Given the description of an element on the screen output the (x, y) to click on. 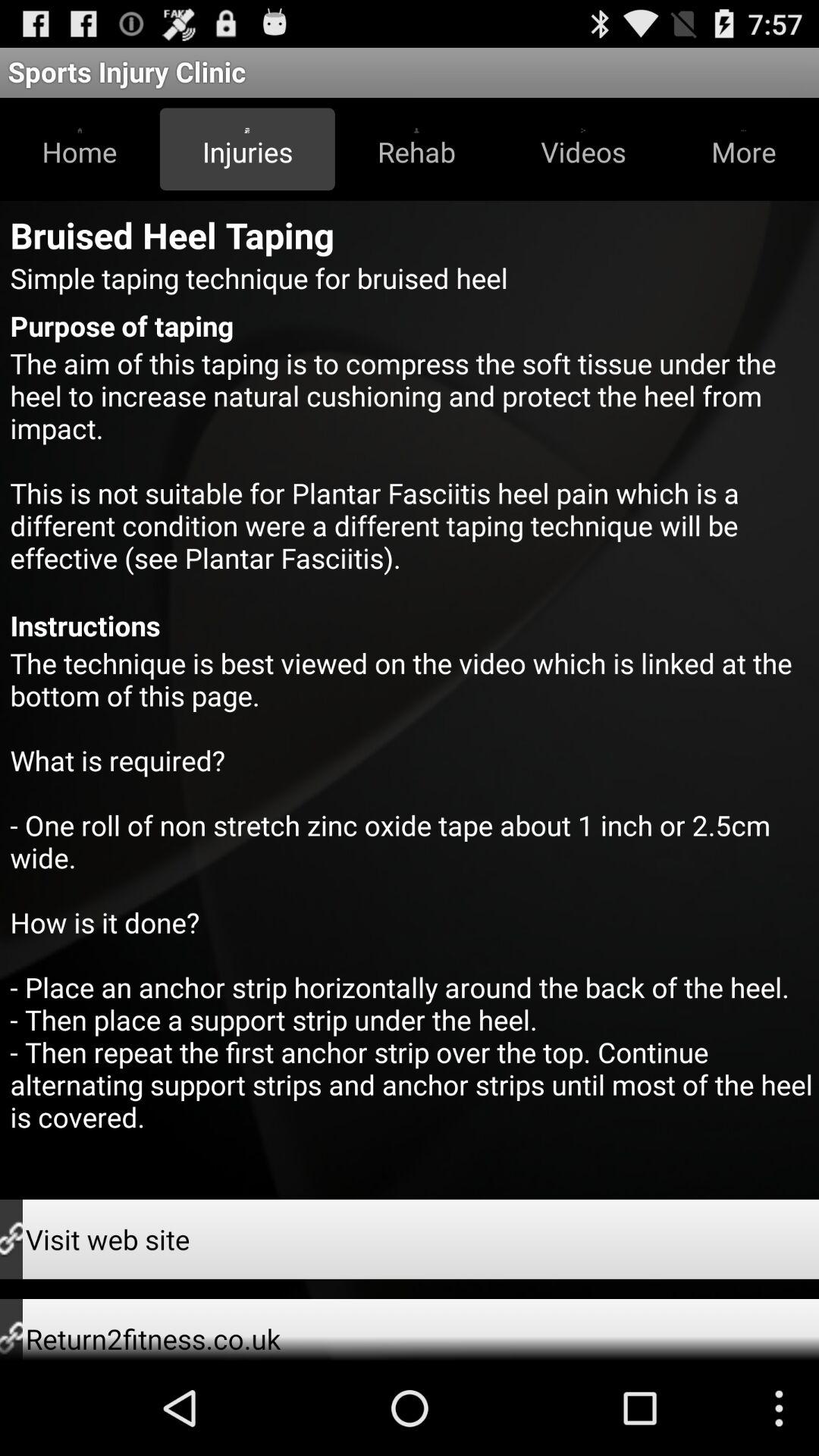
launch icon above bruised heel taping app (79, 149)
